Given the description of an element on the screen output the (x, y) to click on. 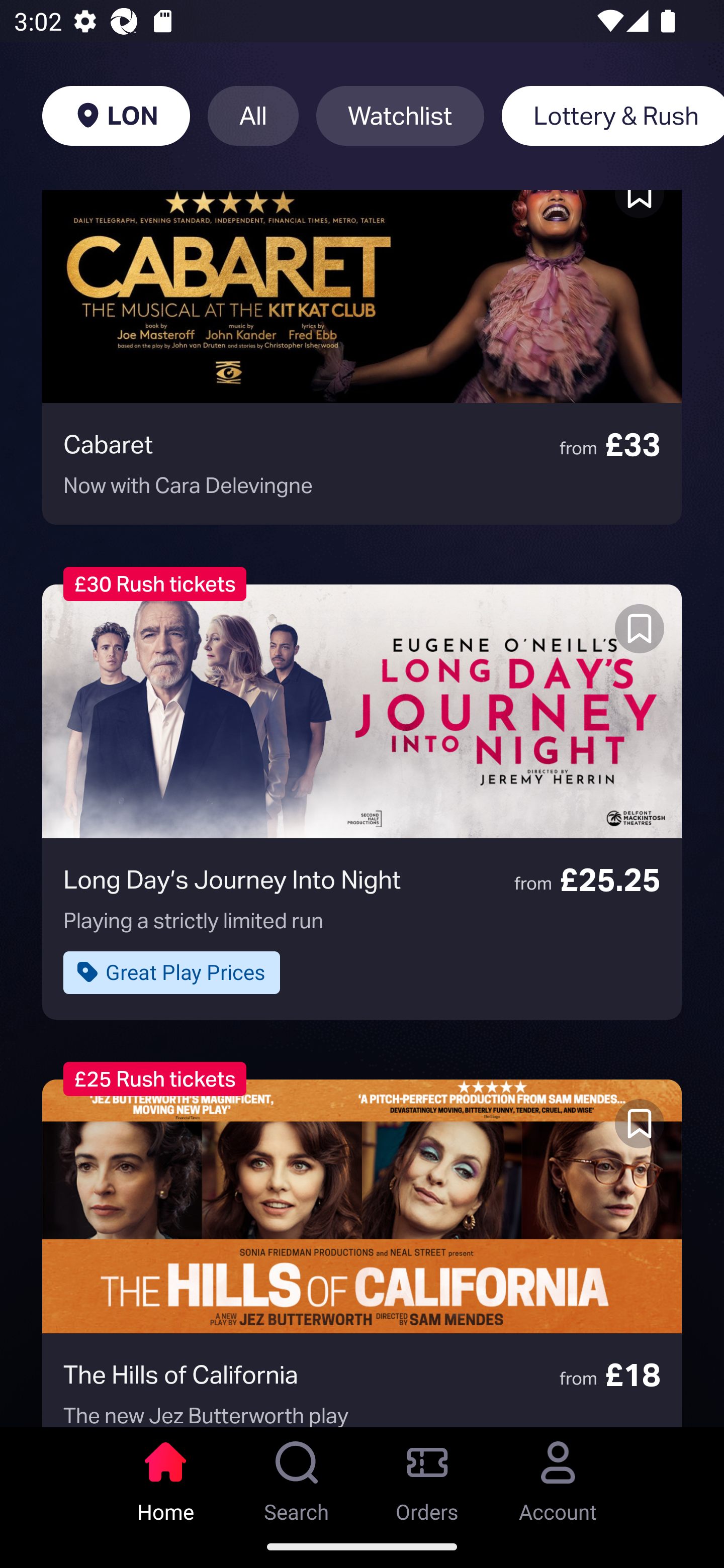
LON (115, 115)
All (252, 115)
Watchlist (400, 115)
Lottery & Rush (612, 115)
Cabaret from £33 Now with Cara Delevingne (361, 357)
Search (296, 1475)
Orders (427, 1475)
Account (558, 1475)
